Given the description of an element on the screen output the (x, y) to click on. 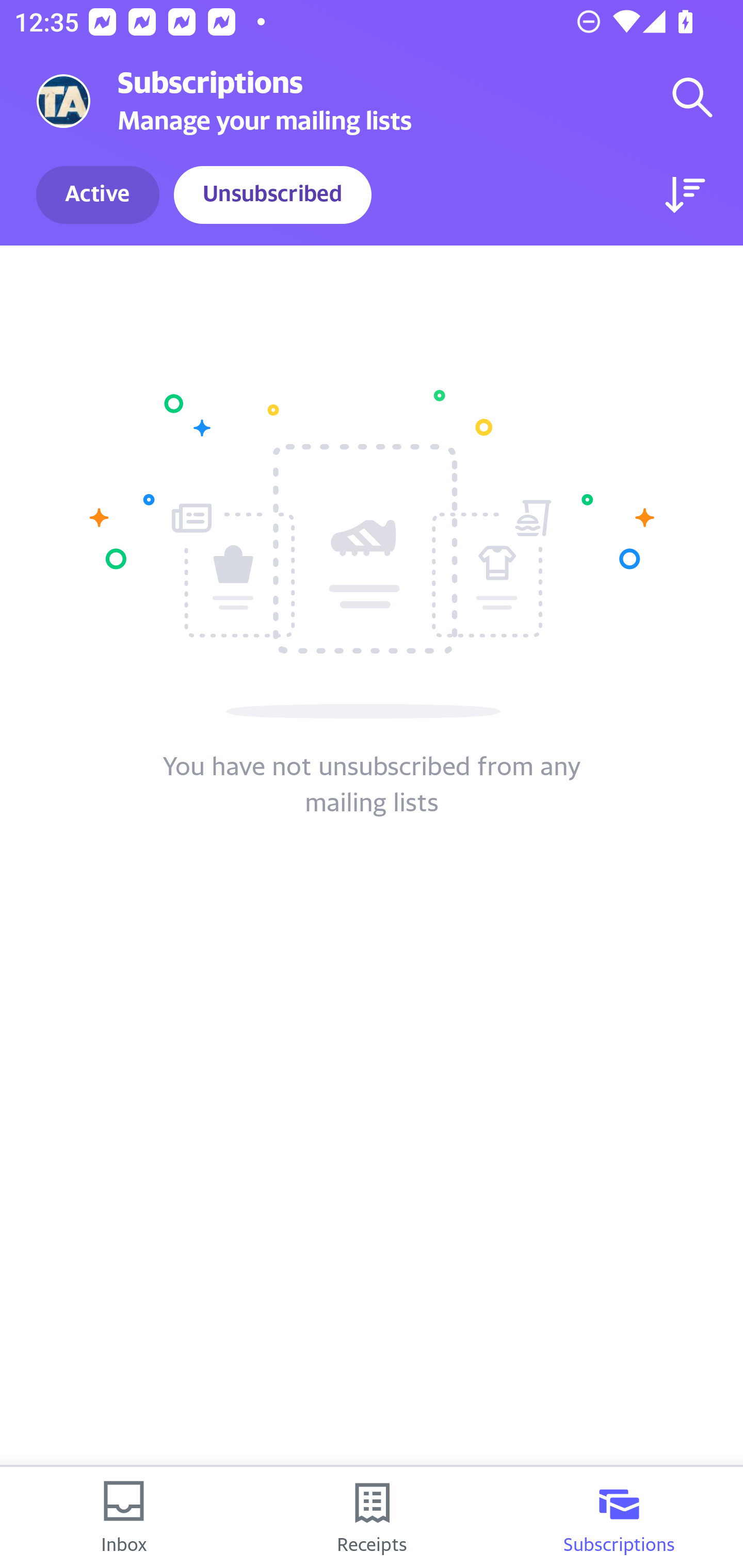
Search mail (692, 97)
Active (97, 195)
Sort (684, 195)
Inbox (123, 1517)
Receipts (371, 1517)
Subscriptions (619, 1517)
